Given the description of an element on the screen output the (x, y) to click on. 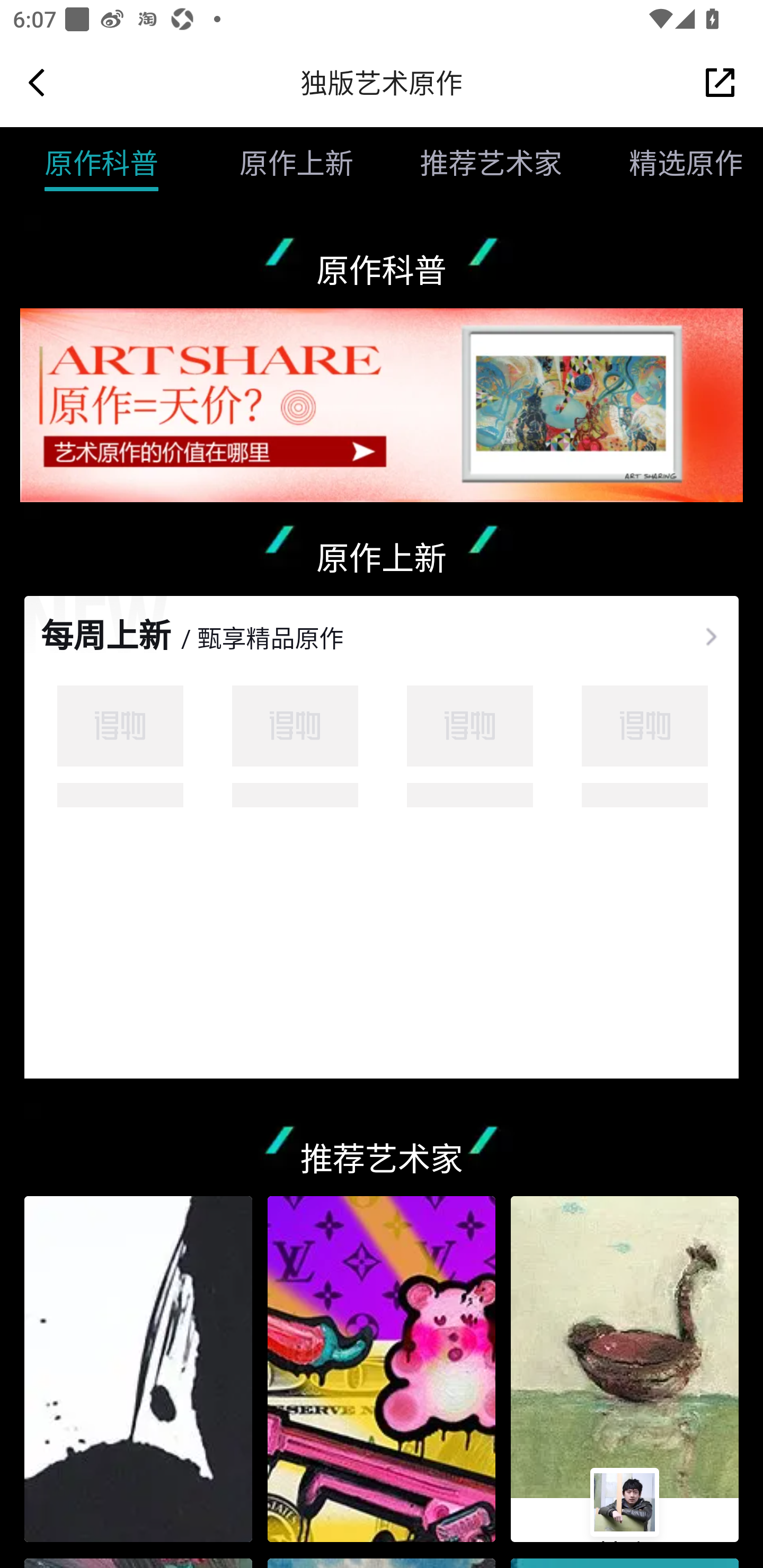
Navigate up (36, 82)
原作科普 (101, 163)
原作上新 (279, 163)
推荐艺术家 (475, 163)
精选原作 (669, 163)
每周上新 / 甄享精品原作 resize,w_20 (381, 623)
resize,w_750 (137, 1368)
resize,w_750 (381, 1368)
resize,w_750 resize,w_136,h_136 韩方 (624, 1368)
